Given the description of an element on the screen output the (x, y) to click on. 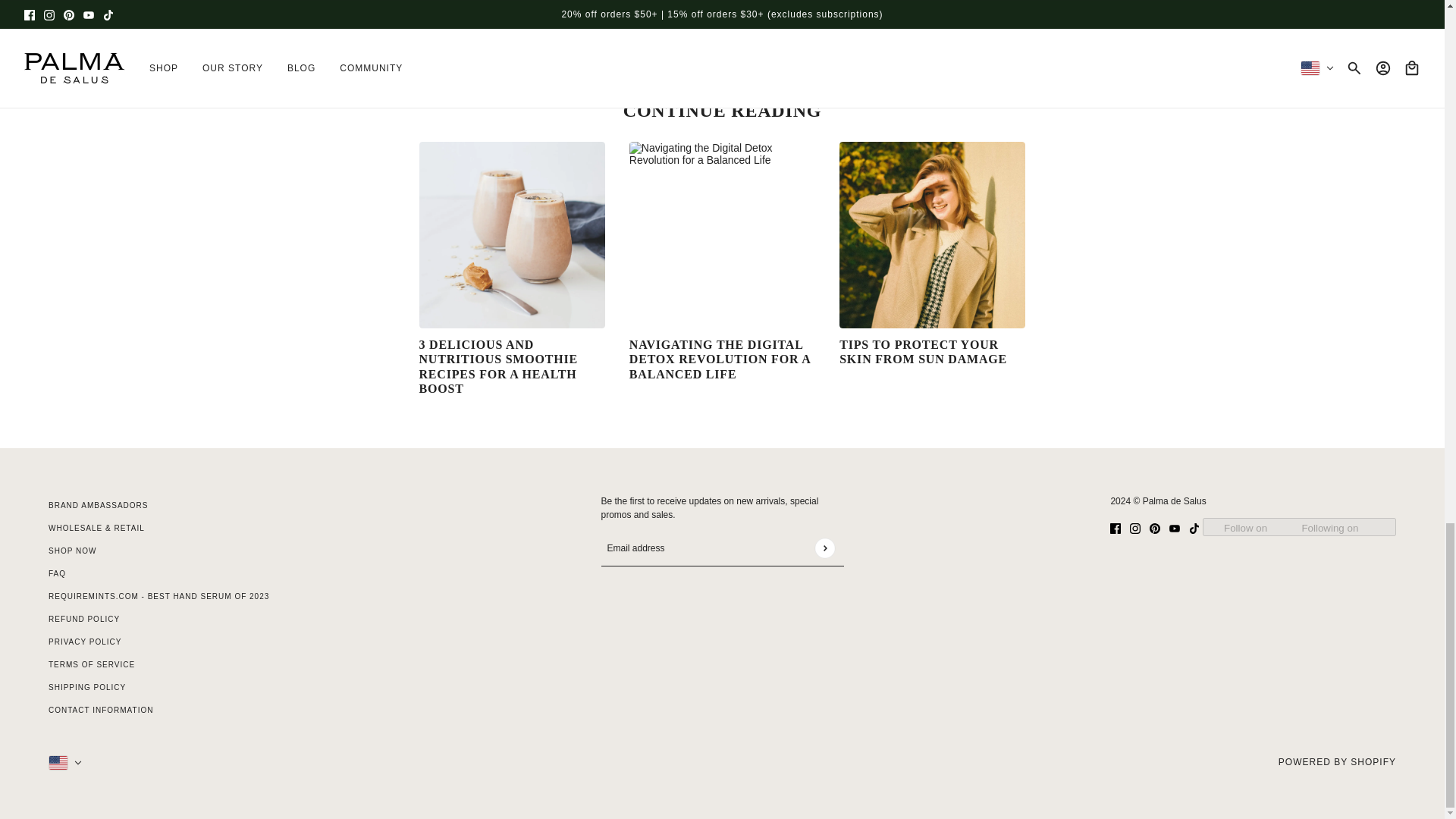
REQUIREMINTS.COM - BEST HAND SERUM OF 2023 (158, 596)
Skinhealth (544, 38)
FAQ (56, 573)
NAVIGATING THE DIGITAL DETOX REVOLUTION FOR A BALANCED LIFE (719, 359)
Anti-aging (441, 38)
SHOP NOW (72, 551)
Refund policy (83, 619)
TERMS OF SERVICE (91, 664)
REFUND POLICY (83, 619)
Shop now (72, 551)
